Given the description of an element on the screen output the (x, y) to click on. 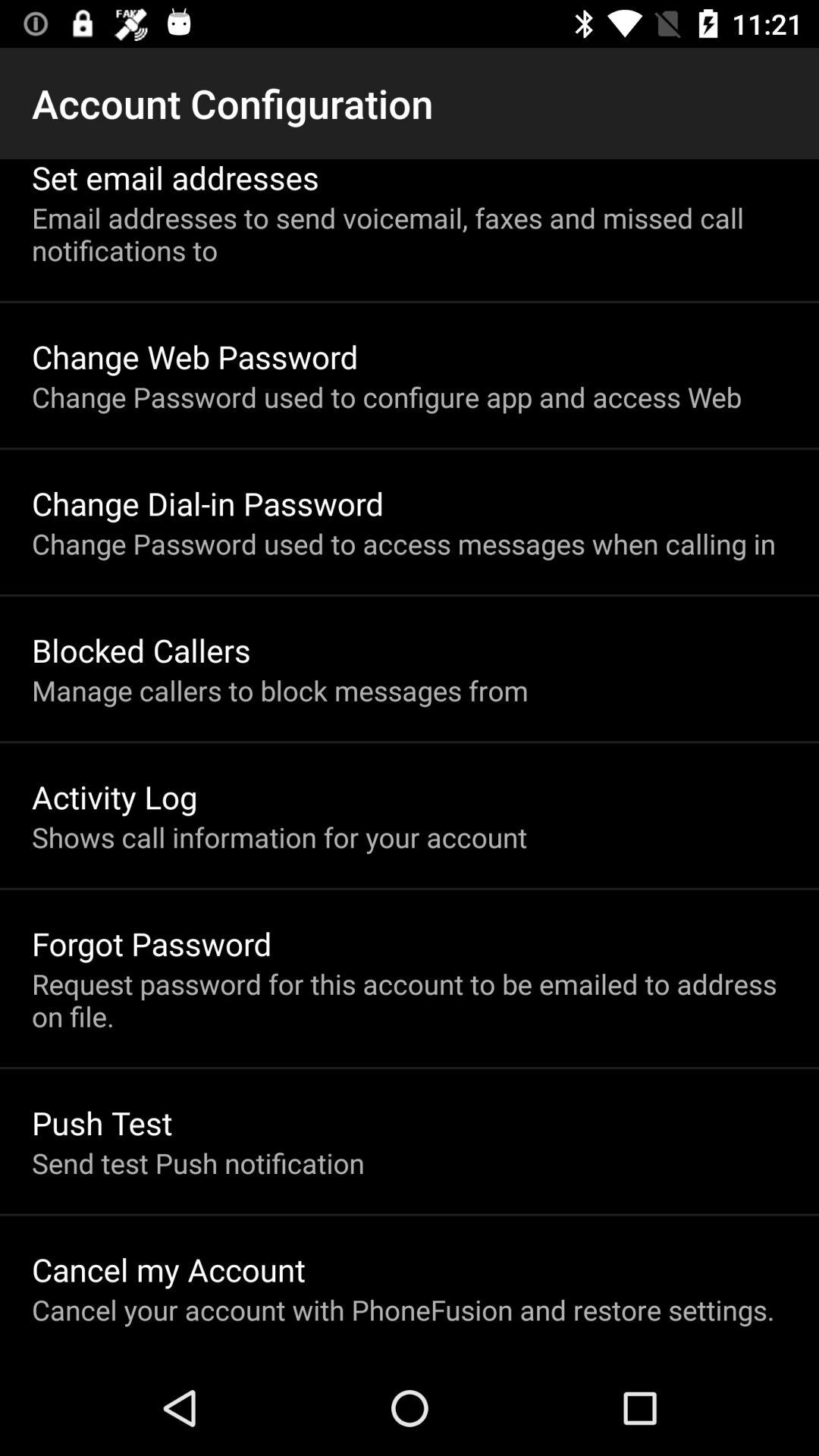
click the item above the manage callers to (140, 649)
